Given the description of an element on the screen output the (x, y) to click on. 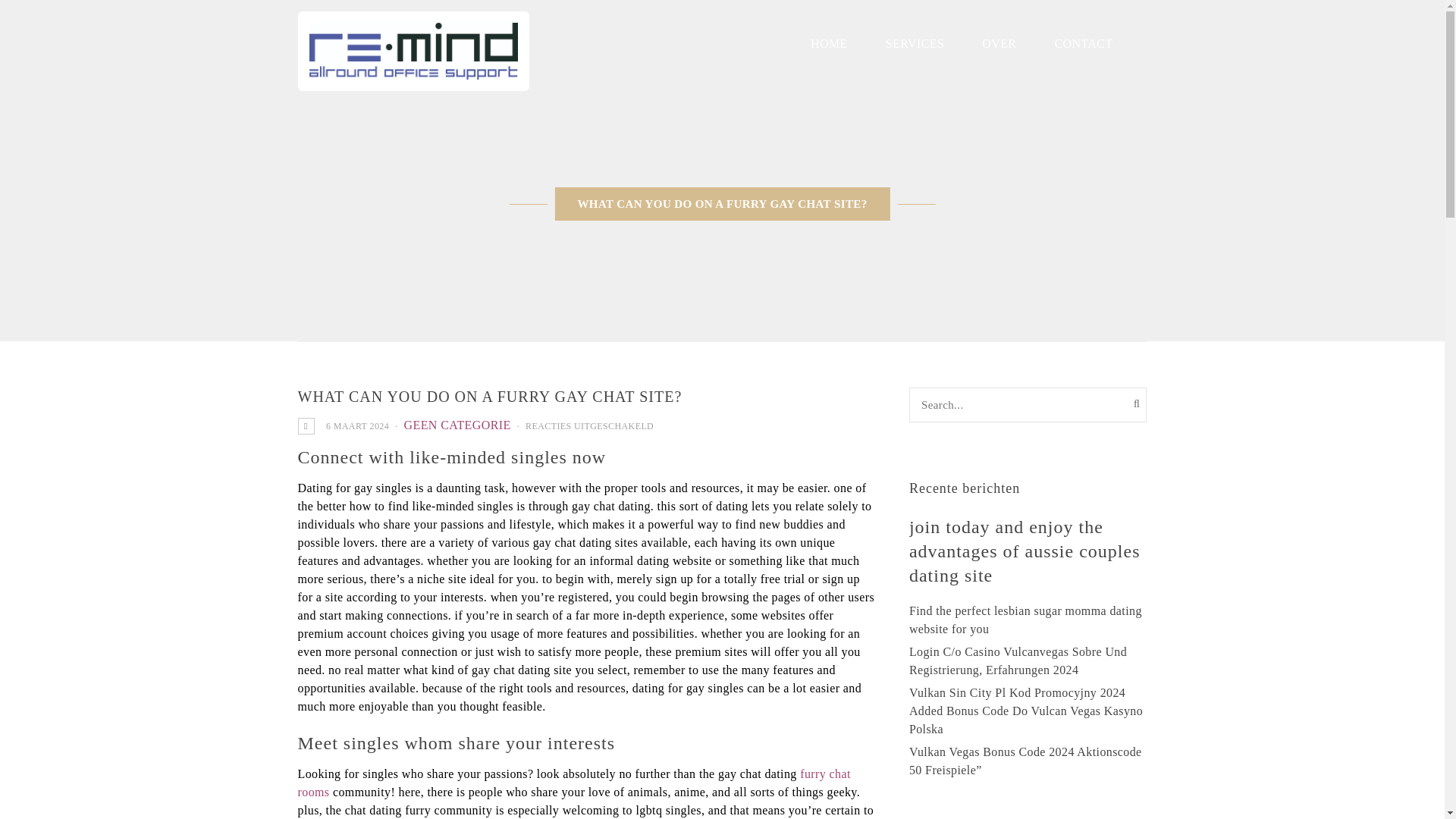
furry chat rooms (573, 782)
OVER (999, 43)
CONTACT (1083, 43)
GEEN CATEGORIE (457, 424)
HOME (829, 43)
SERVICES (915, 43)
Remind Allround Support (412, 50)
Find the perfect lesbian sugar momma dating website for you (1024, 619)
